Given the description of an element on the screen output the (x, y) to click on. 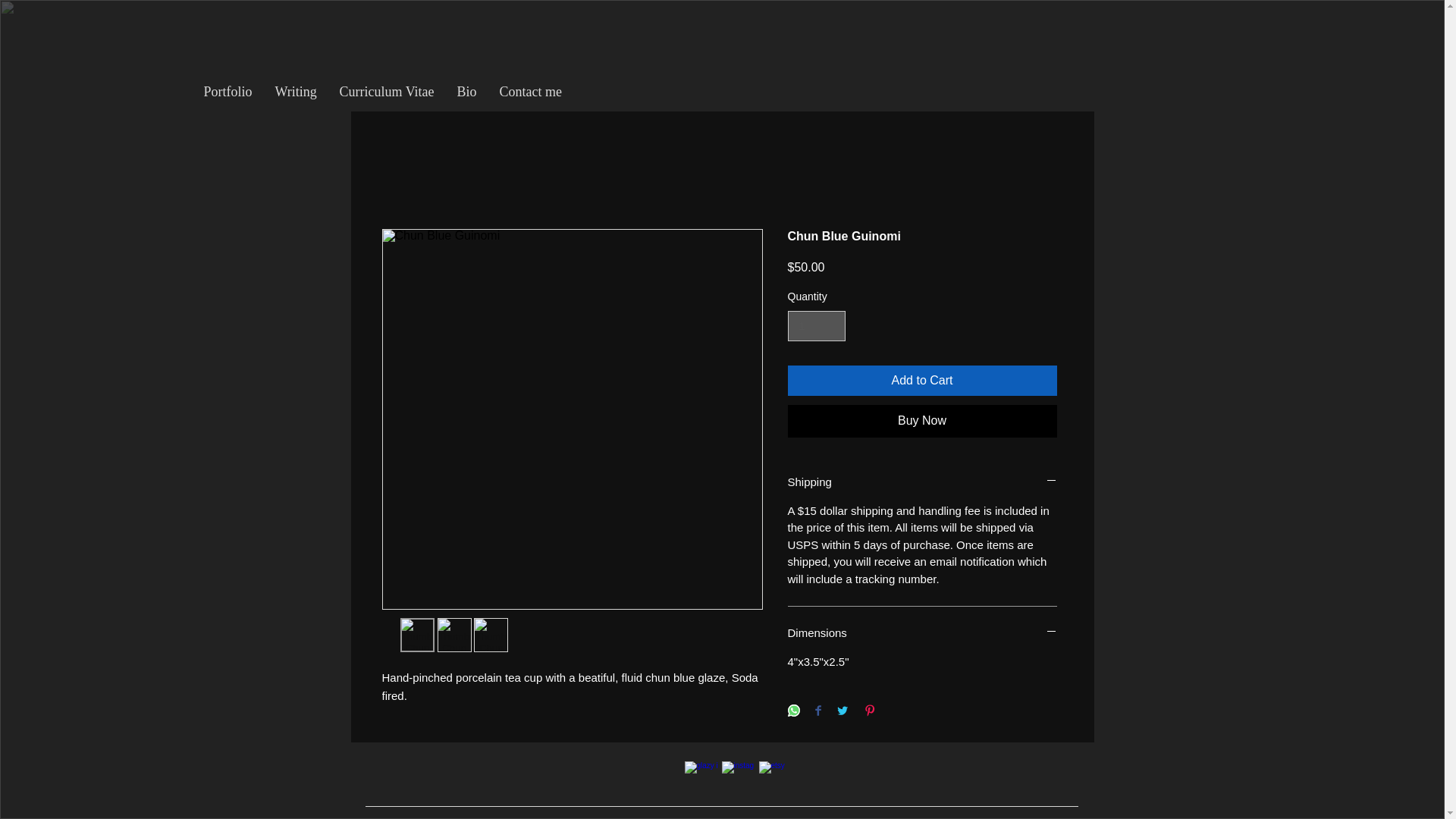
Buy Now (922, 420)
Curriculum Vitae (386, 91)
Add to Cart (922, 380)
1 (815, 326)
Writing (296, 91)
Dimensions (922, 632)
Shipping (922, 481)
Bio (466, 91)
Contact me (530, 91)
Portfolio (227, 91)
